Given the description of an element on the screen output the (x, y) to click on. 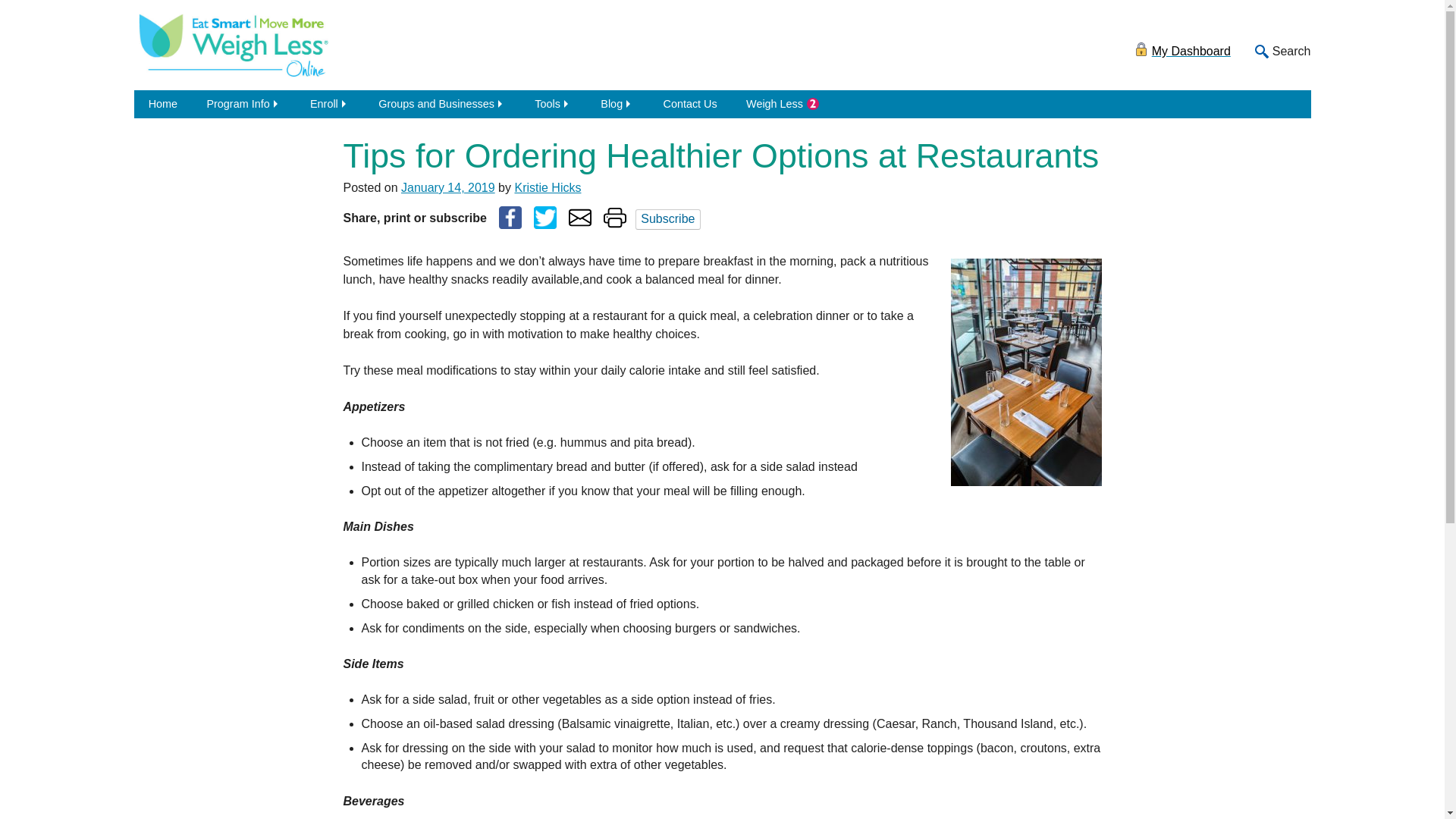
Program Info (243, 103)
Blog (616, 103)
Tools (553, 103)
Enroll (329, 103)
Home (162, 103)
My Dashboard (1182, 45)
Groups and Businesses (441, 103)
